Given the description of an element on the screen output the (x, y) to click on. 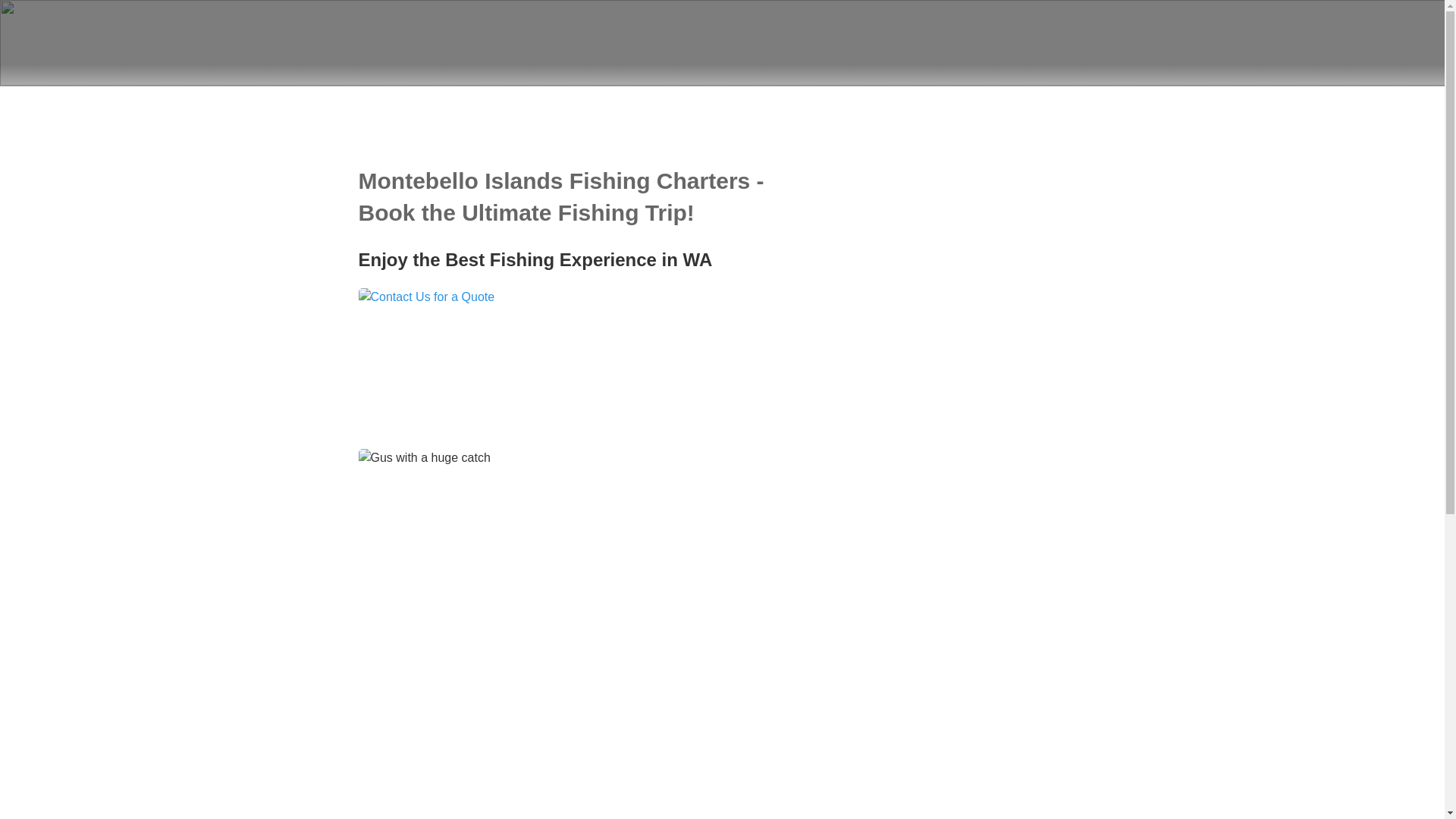
FISHING CHARTERS (427, 116)
BOAT CRUISES (668, 116)
WHALE WATCHING (554, 116)
TESTIMONIALS (772, 116)
CONTACT US (1087, 116)
ABOUT US (1000, 116)
BLOG (932, 116)
CATERING (864, 116)
HOME (334, 116)
